Given the description of an element on the screen output the (x, y) to click on. 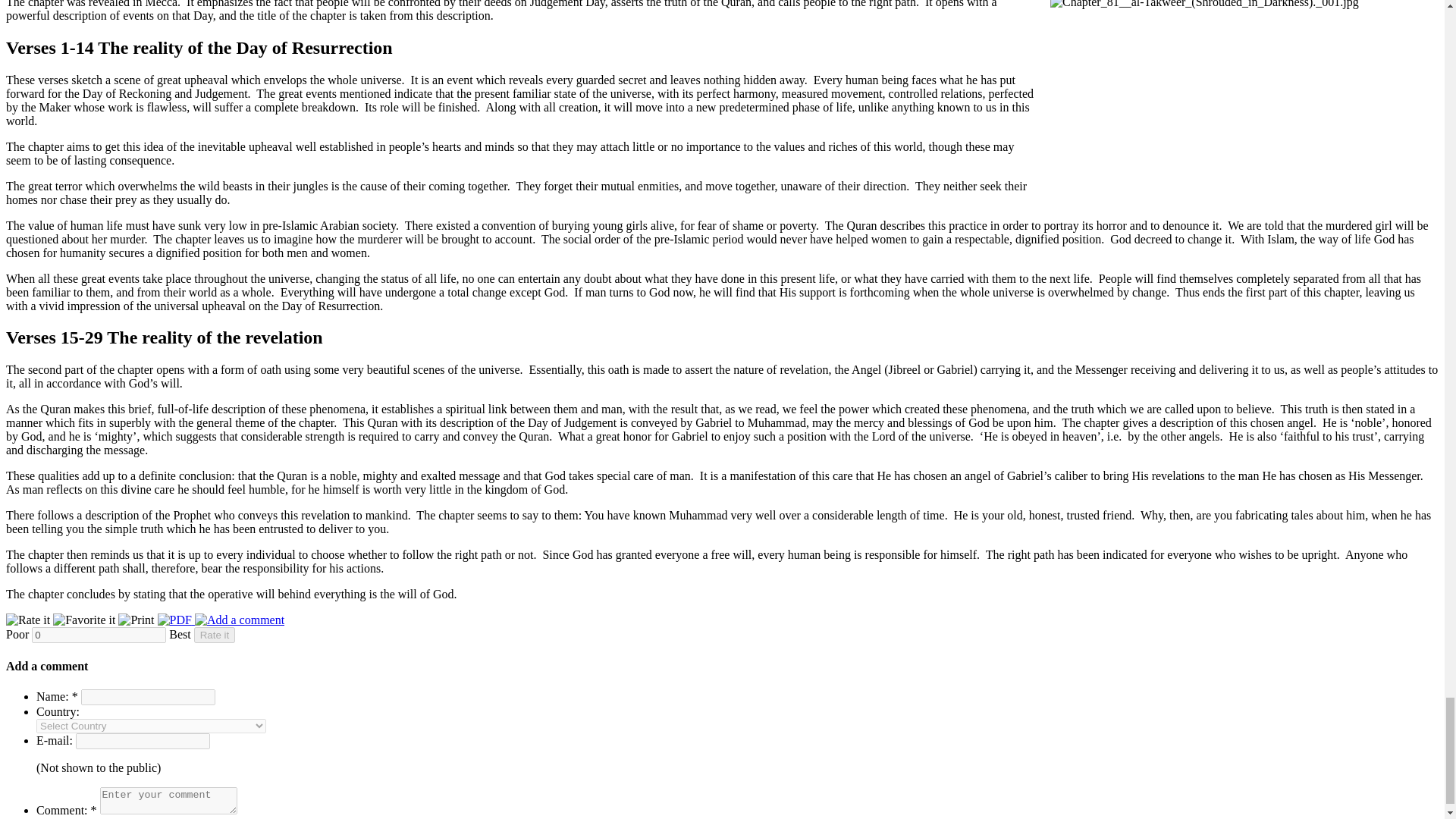
Add this article to your favorites on this site (84, 619)
0 (98, 634)
Rate it (28, 619)
Print (137, 619)
